Given the description of an element on the screen output the (x, y) to click on. 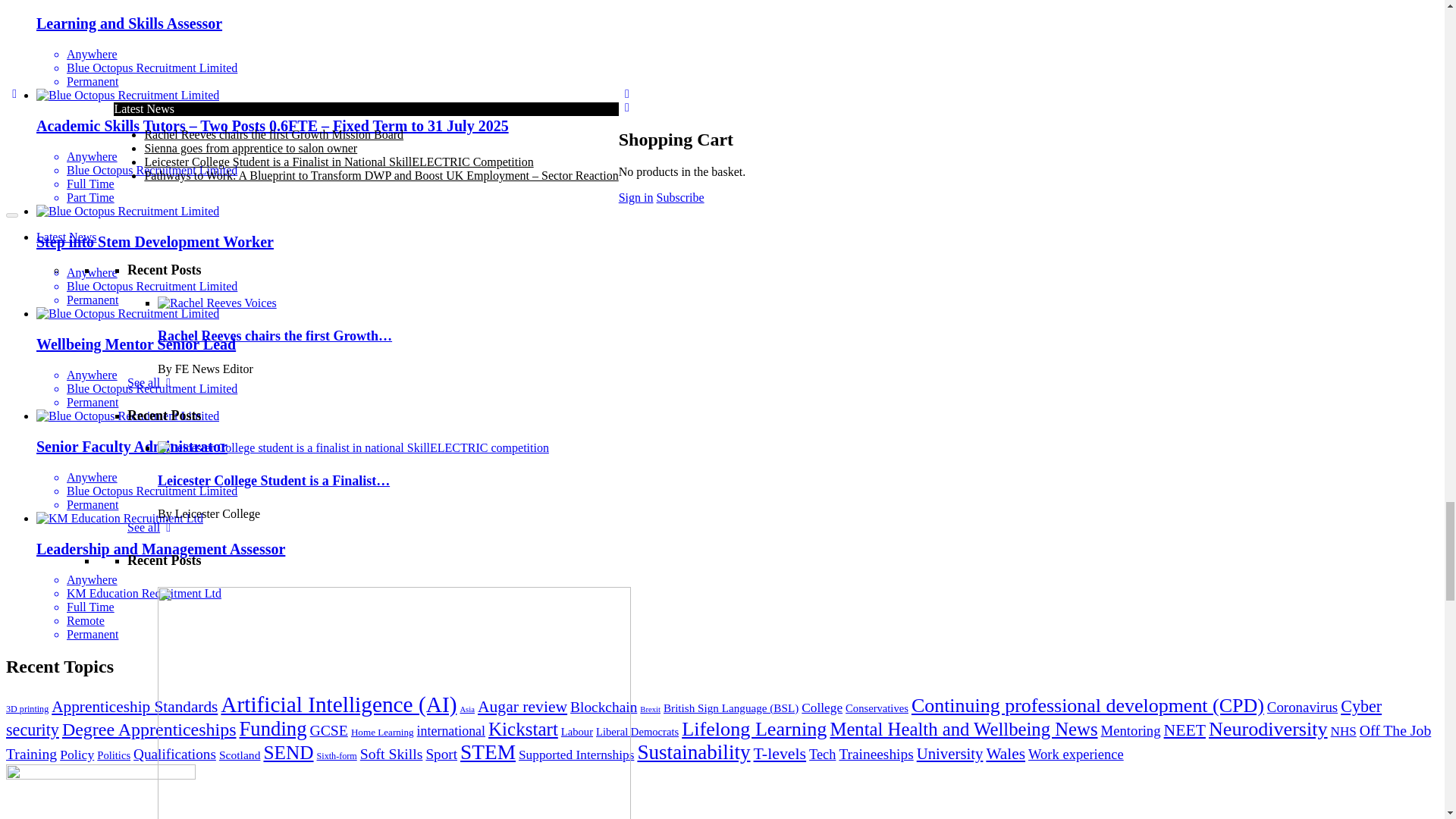
Permalink to Skilfully Speaking (393, 164)
